Given the description of an element on the screen output the (x, y) to click on. 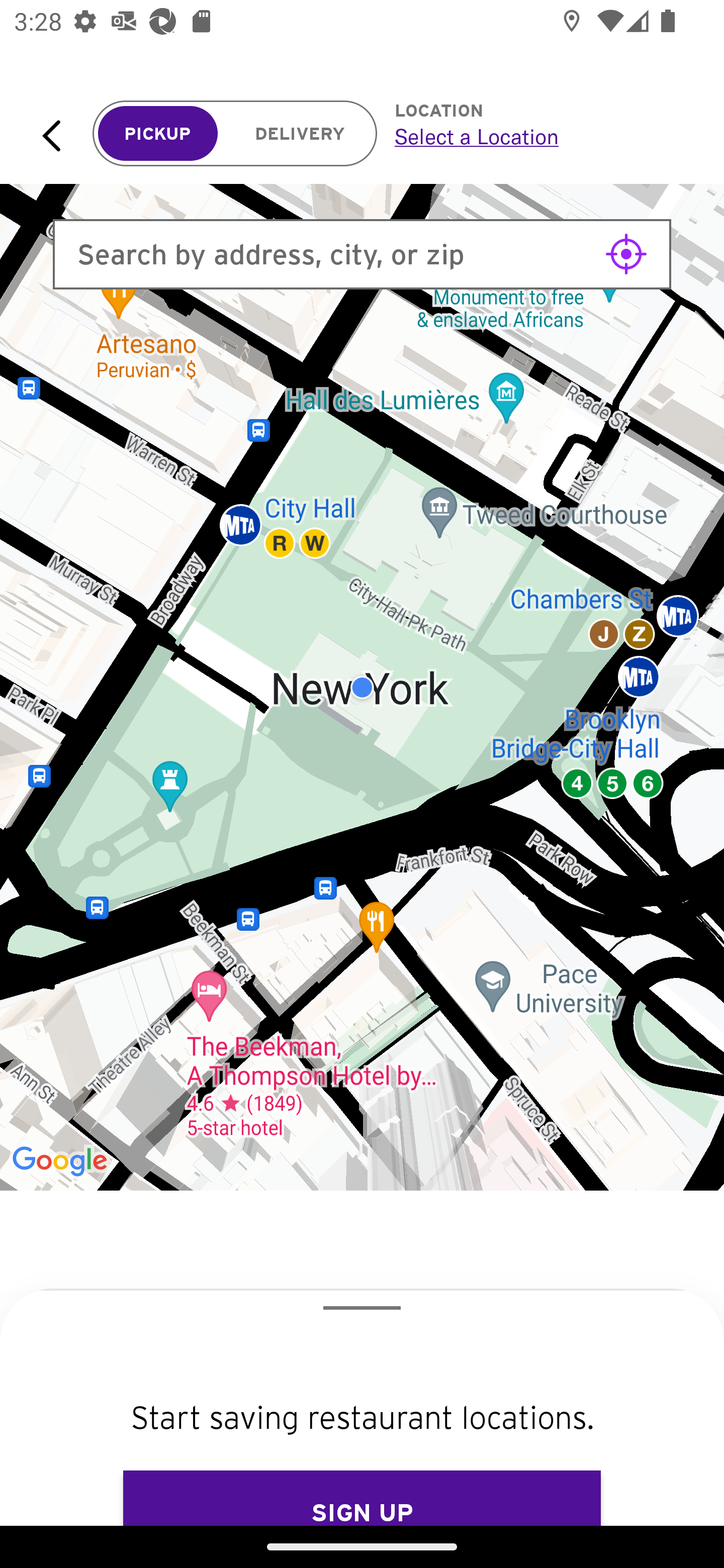
PICKUP (157, 133)
DELIVERY (299, 133)
Select a Location (536, 136)
Search by address, city, or zip (361, 254)
SIGN UP (361, 1497)
